Given the description of an element on the screen output the (x, y) to click on. 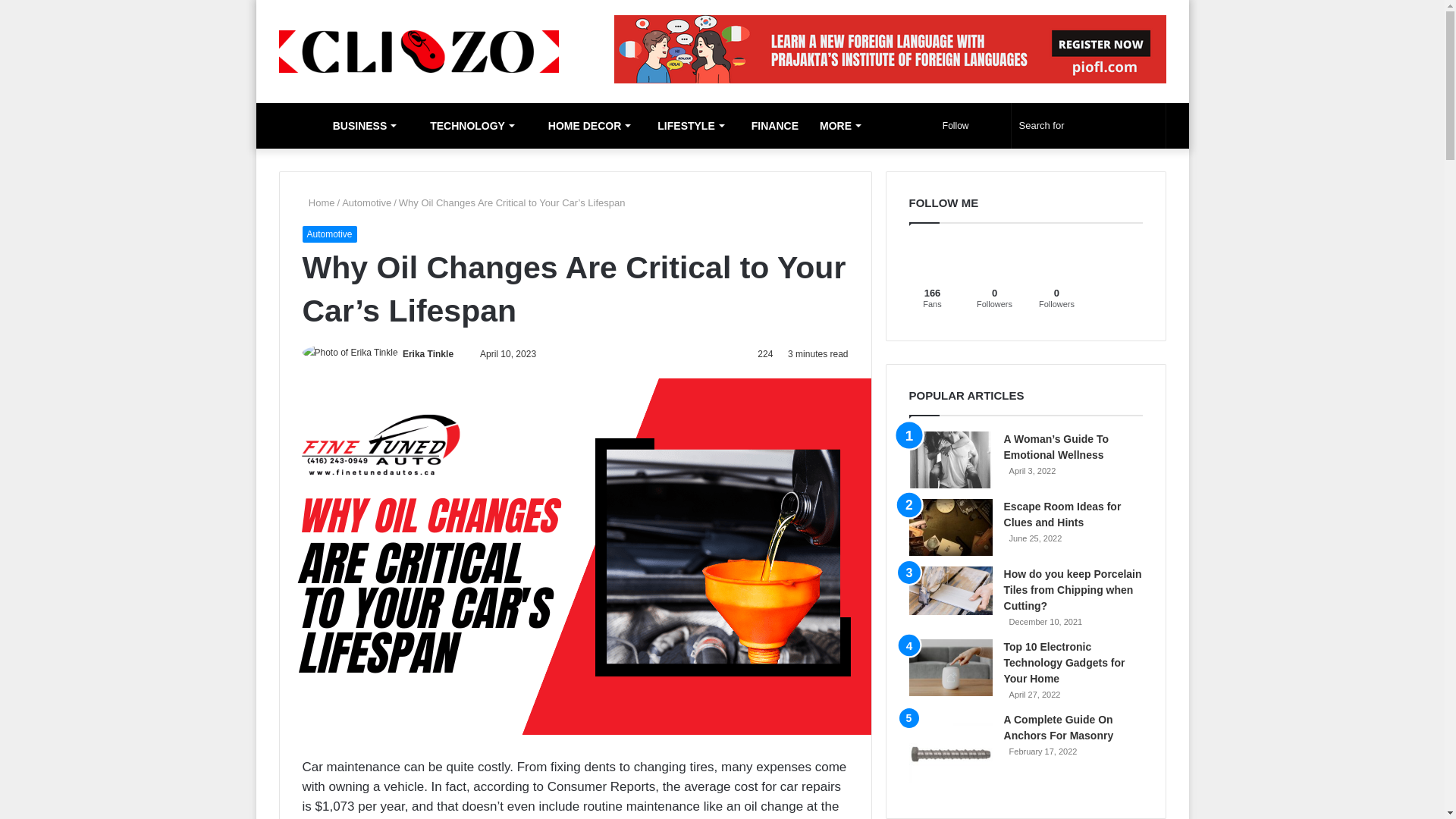
HOME DECOR (582, 125)
FINANCE (771, 125)
Home (317, 202)
Erika Tinkle (427, 353)
Erika Tinkle (427, 353)
BUSINESS (360, 125)
LIFESTYLE (686, 125)
Search for (1149, 125)
Automotive (328, 234)
Search for (1088, 125)
TECHNOLOGY (465, 125)
Cliqzo (419, 51)
Automotive (366, 202)
HOME (297, 125)
